Given the description of an element on the screen output the (x, y) to click on. 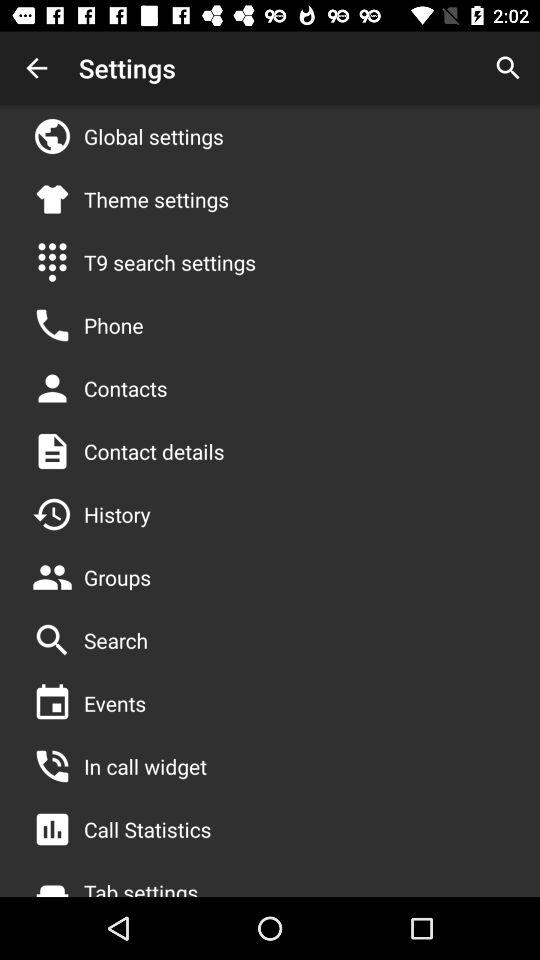
launch the events item (115, 703)
